Given the description of an element on the screen output the (x, y) to click on. 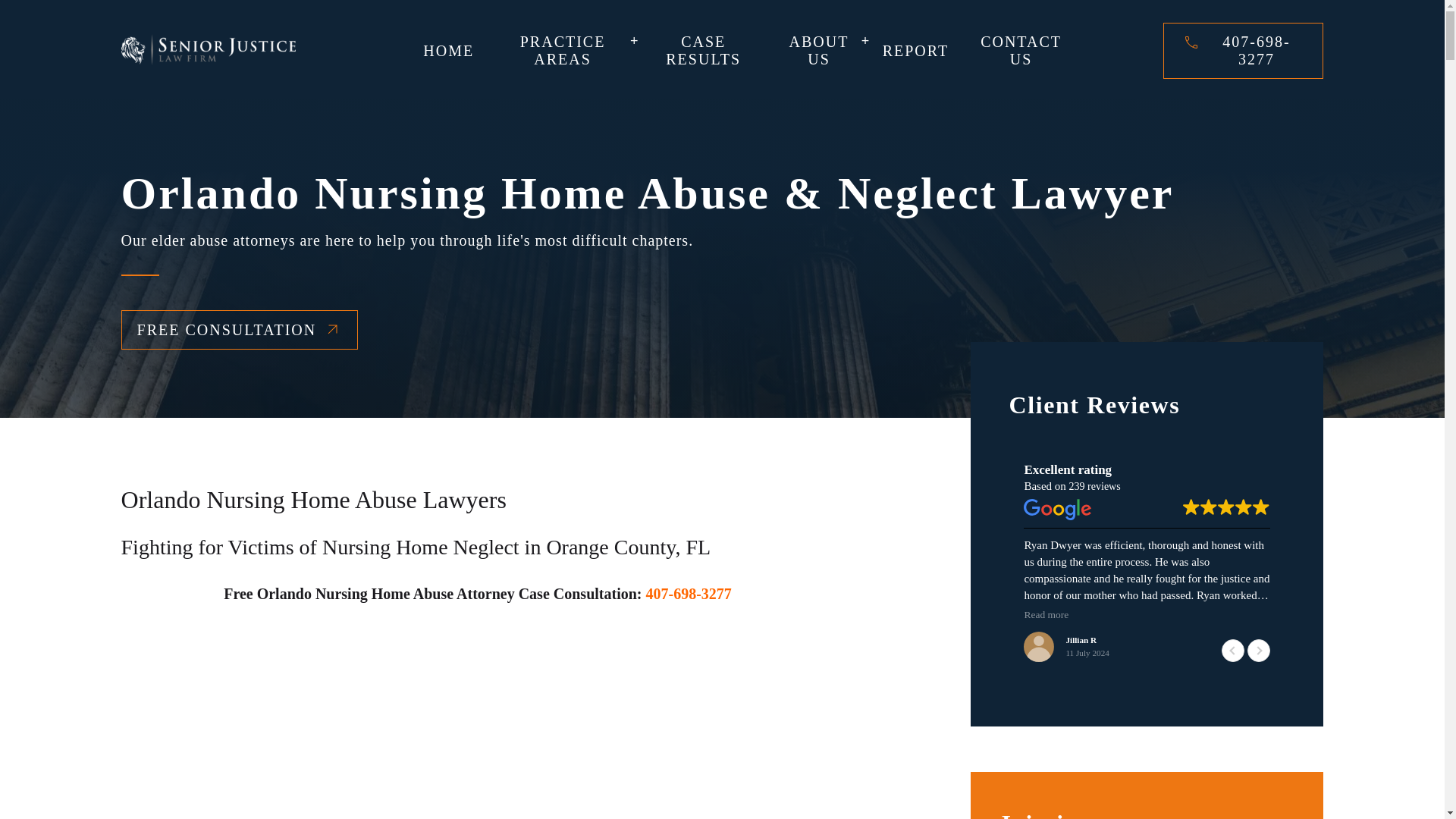
ABOUT US (818, 50)
FREE CONSULTATION (239, 329)
HOME (448, 50)
CONTACT US (1021, 50)
407-698-3277 (1256, 50)
REPORT (915, 50)
PRACTICE AREAS (562, 50)
CASE RESULTS (702, 50)
